Given the description of an element on the screen output the (x, y) to click on. 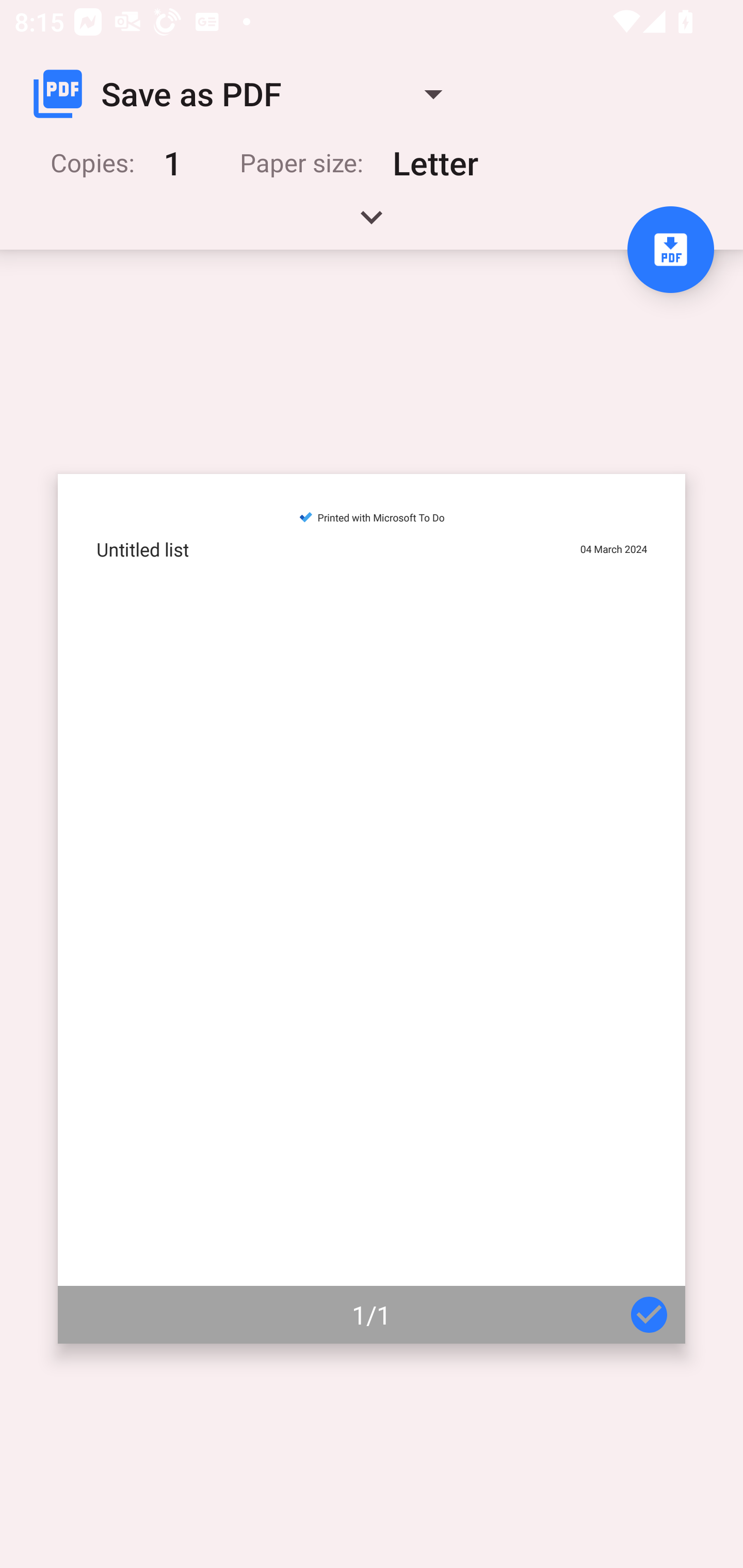
Save as PDF (245, 93)
Expand handle (371, 224)
Save to PDF (670, 249)
Page 1 of 1 1/1 (371, 908)
